Given the description of an element on the screen output the (x, y) to click on. 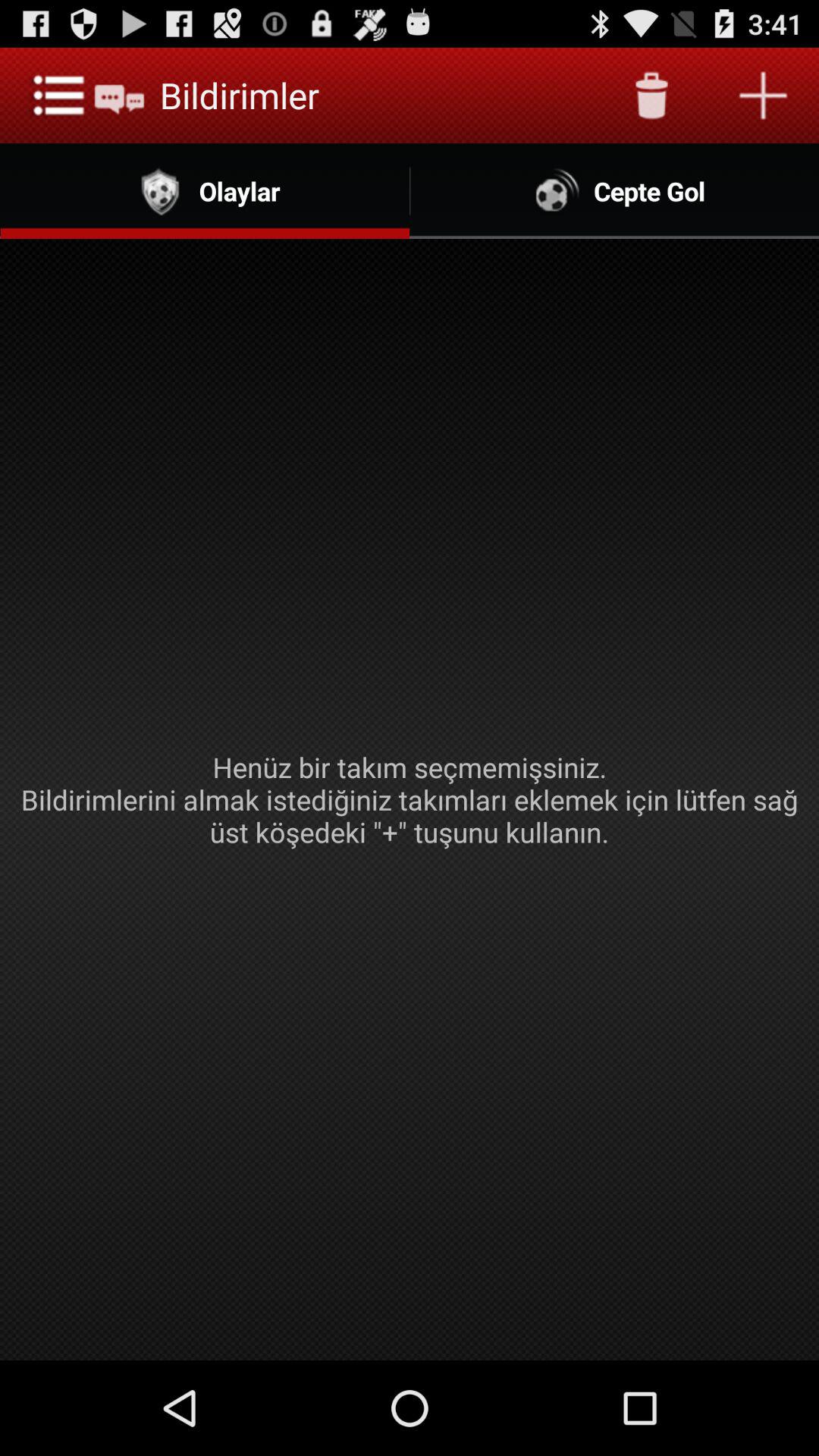
press app above the cepte gol (651, 95)
